Given the description of an element on the screen output the (x, y) to click on. 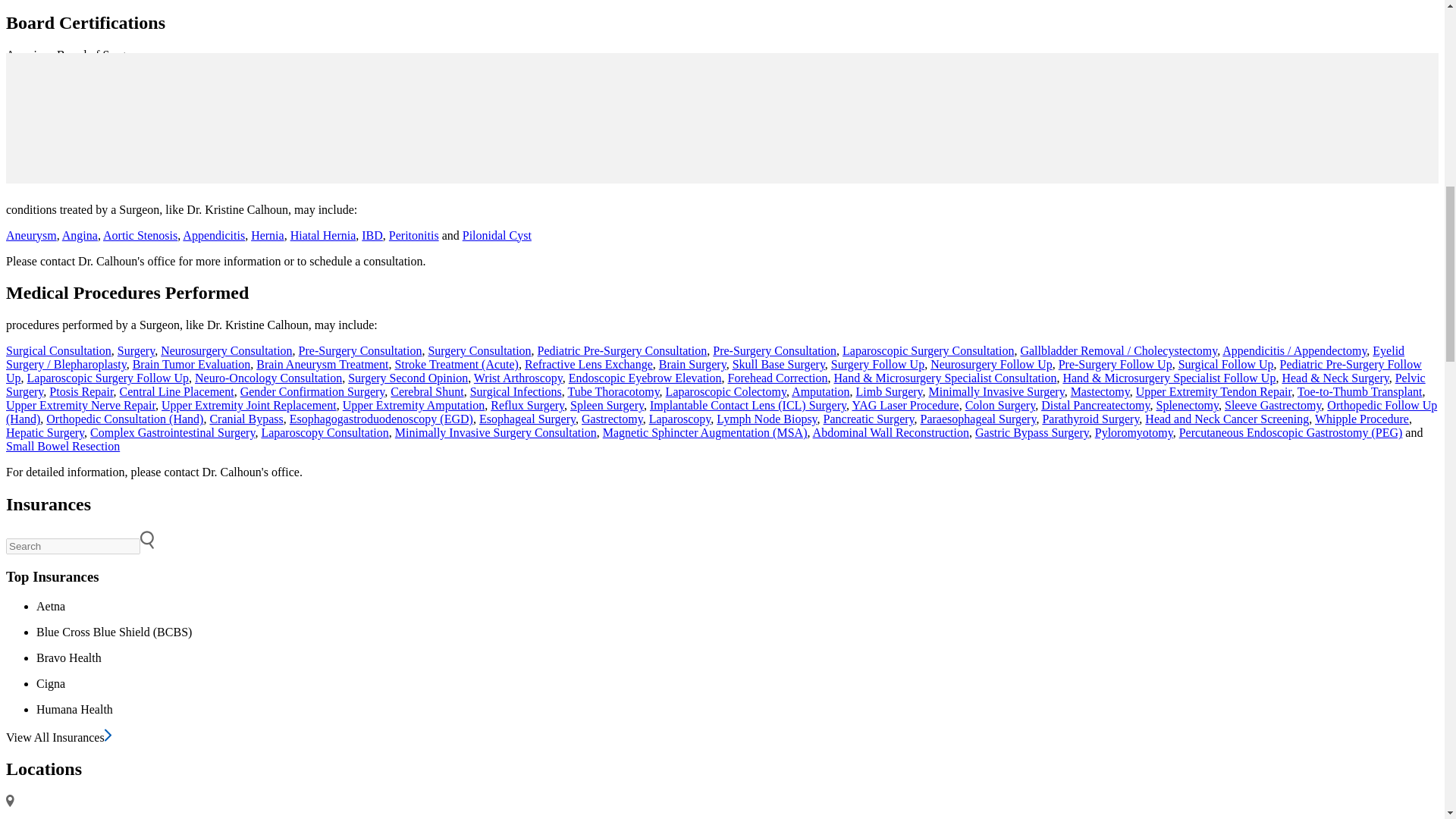
Pediatric Pre-Surgery Follow Up (713, 370)
Brain Aneurysm Treatment (322, 364)
Hernia (266, 235)
Pre-Surgery Follow Up (1115, 364)
Surgery (135, 350)
Brain Surgery (692, 364)
Pilonidal Cyst (497, 235)
Pre-Surgery Consultation (360, 350)
Appendicitis (213, 235)
Neurosurgery Consultation (226, 350)
